Given the description of an element on the screen output the (x, y) to click on. 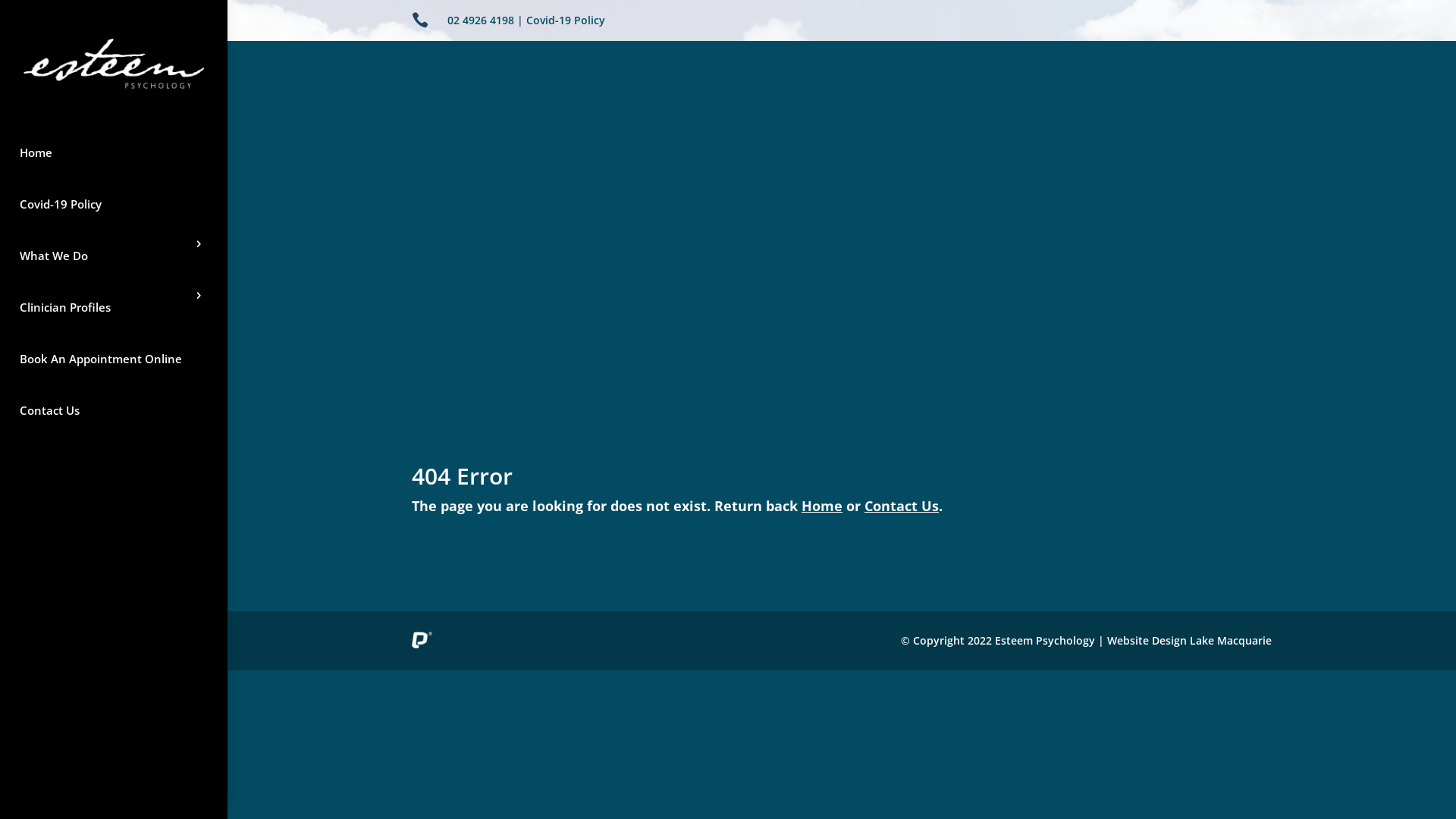
What We Do Element type: text (113, 255)
Website Design Lake Macquarie Element type: text (1189, 640)
02 4926 4198 Element type: text (480, 19)
Contact Us Element type: text (113, 410)
Book An Appointment Online Element type: text (113, 358)
Covid-19 Policy Element type: text (113, 203)
Home Element type: text (113, 152)
Home Element type: text (821, 505)
Clinician Profiles Element type: text (113, 306)
Esteem Psychology Element type: hover (113, 62)
Contact Us Element type: text (901, 505)
psyborg-Icon-White Element type: hover (421, 639)
Covid-19 Policy Element type: text (565, 19)
